Given the description of an element on the screen output the (x, y) to click on. 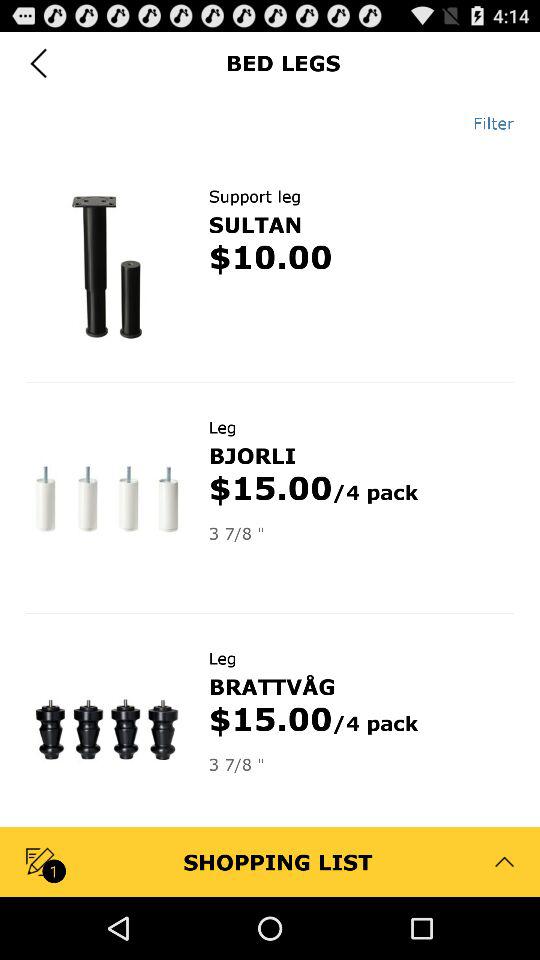
choose the support leg app (254, 195)
